Given the description of an element on the screen output the (x, y) to click on. 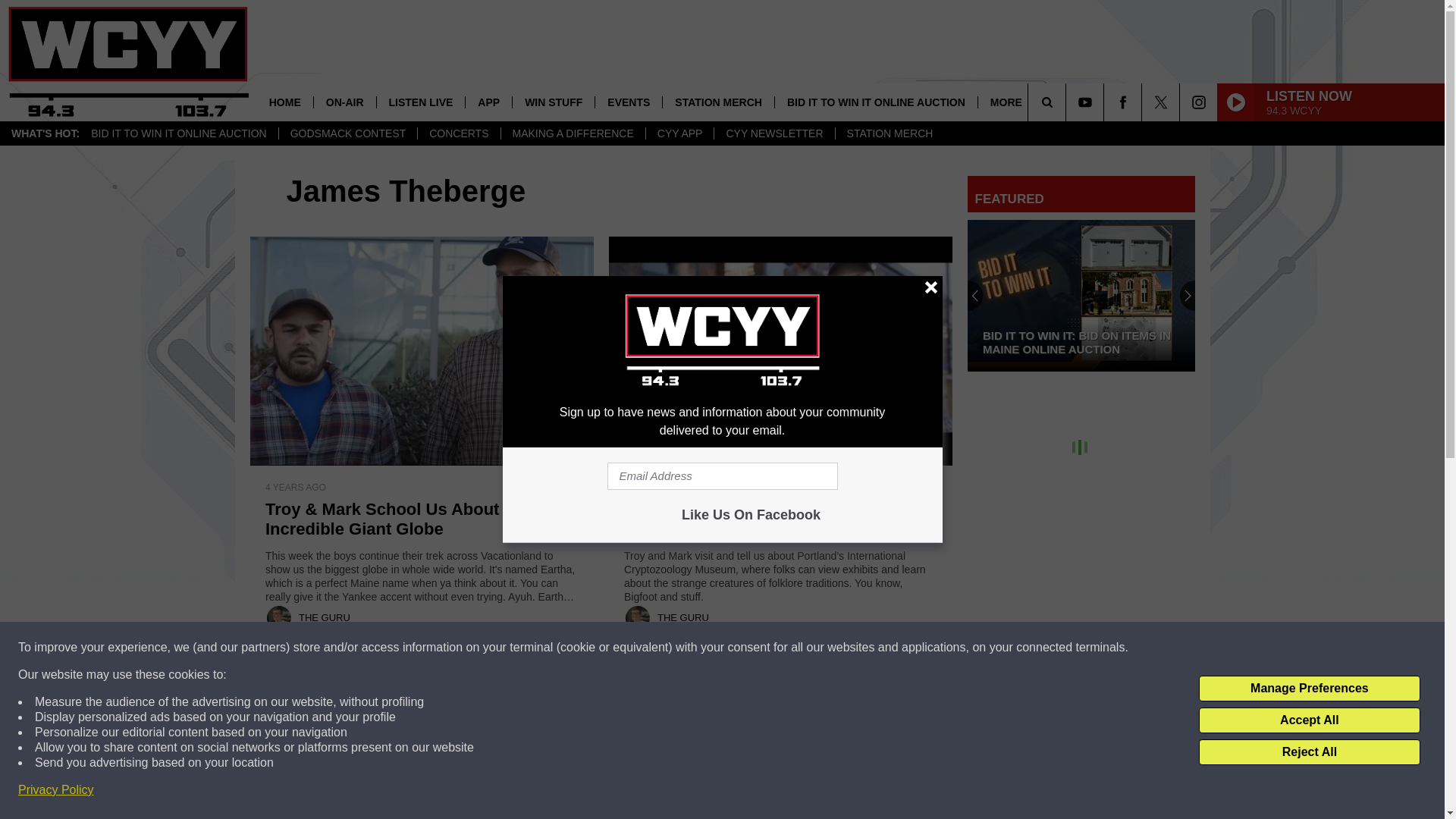
MAKING A DIFFERENCE (572, 133)
Privacy Policy (55, 789)
CYY NEWSLETTER (773, 133)
Accept All (1309, 720)
SEARCH (1068, 102)
Email Address (722, 475)
APP (488, 102)
LISTEN LIVE (420, 102)
WIN STUFF (553, 102)
CYY APP (679, 133)
Manage Preferences (1309, 688)
STATION MERCH (718, 102)
SEARCH (1068, 102)
ON-AIR (344, 102)
CONCERTS (457, 133)
